Given the description of an element on the screen output the (x, y) to click on. 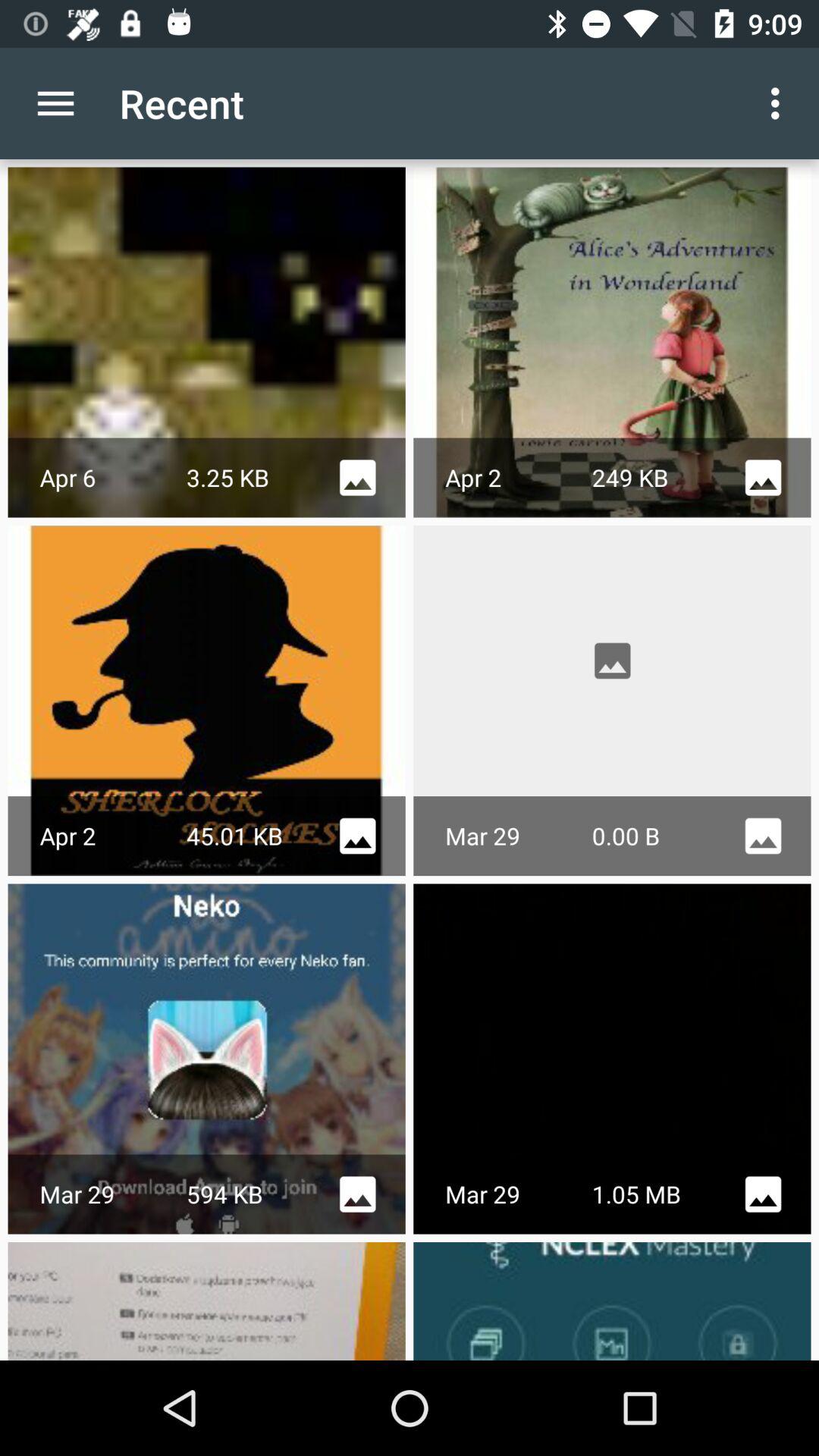
click icon next to the recent app (55, 103)
